Given the description of an element on the screen output the (x, y) to click on. 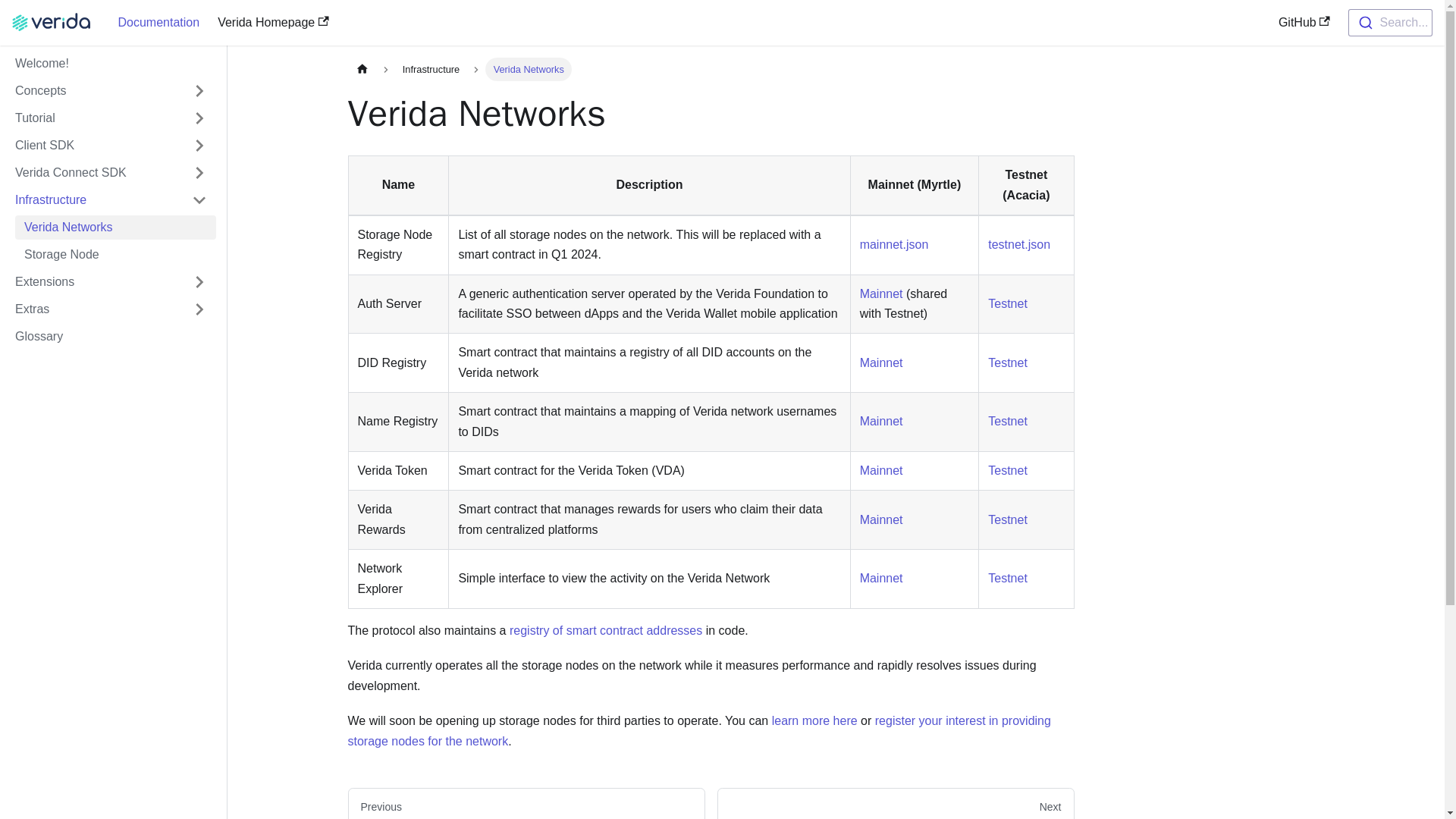
Concepts (94, 90)
Tutorial (110, 118)
Testnet (1007, 303)
Documentation (159, 22)
Mainnet (881, 293)
Client SDK (94, 145)
Extras (110, 309)
GitHub (1304, 22)
Testnet (1007, 577)
Mainnet (881, 362)
Mainnet (881, 519)
Mainnet (881, 470)
registry of smart contract addresses (605, 630)
Verida Connect SDK (94, 172)
Testnet (1007, 420)
